Given the description of an element on the screen output the (x, y) to click on. 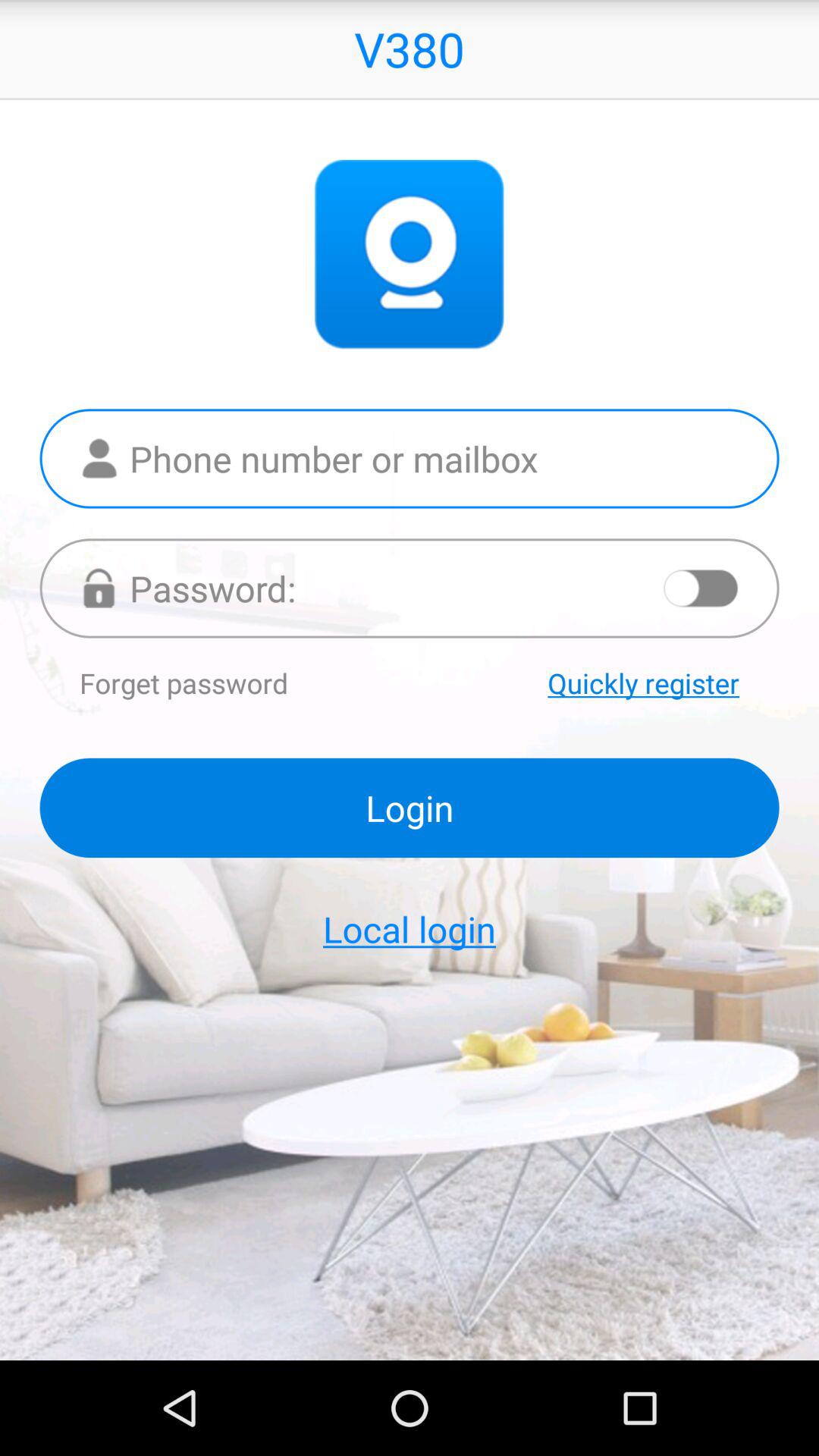
show password (701, 587)
